Given the description of an element on the screen output the (x, y) to click on. 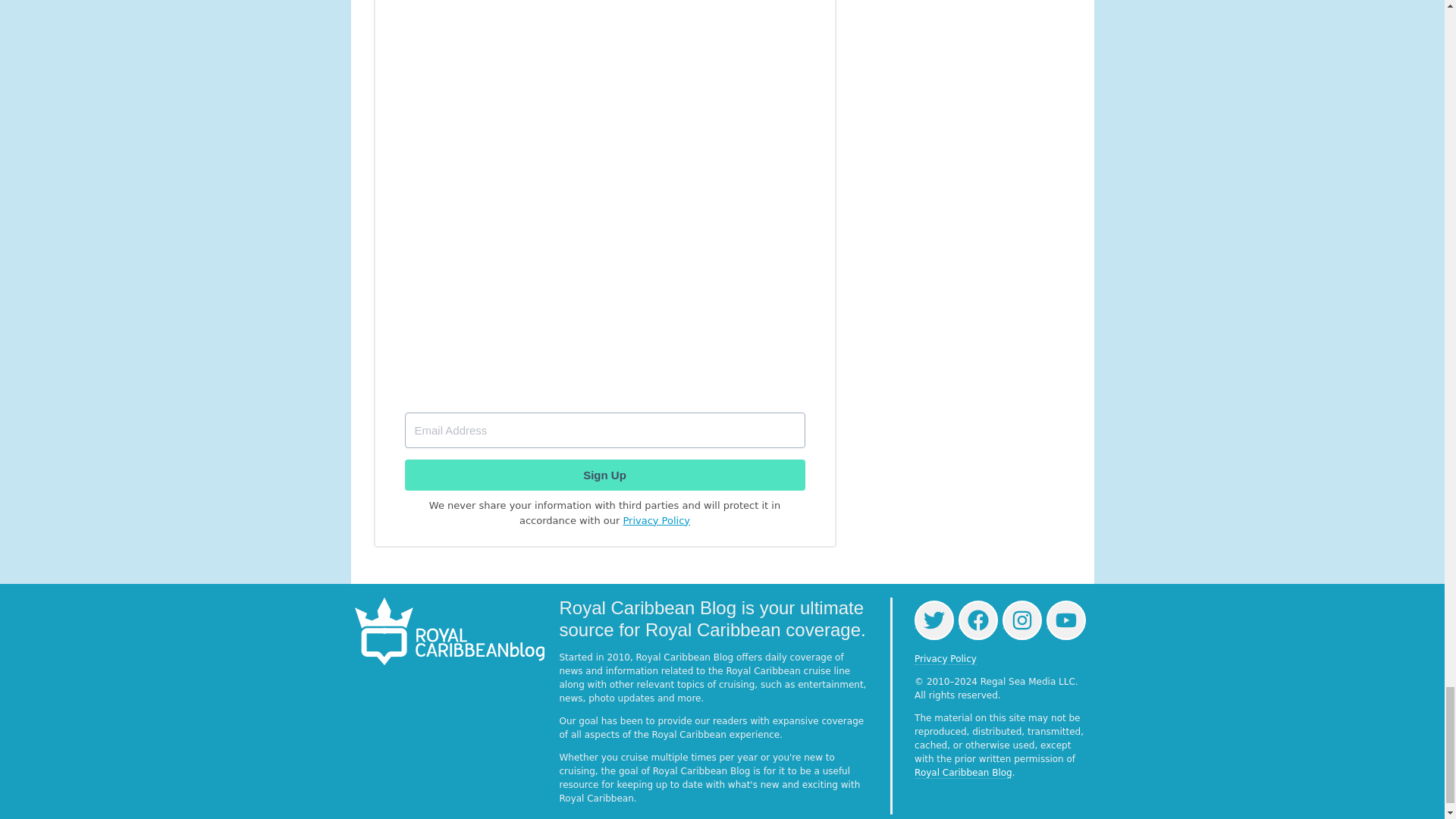
Privacy Policy (656, 520)
Sign Up (604, 474)
